Given the description of an element on the screen output the (x, y) to click on. 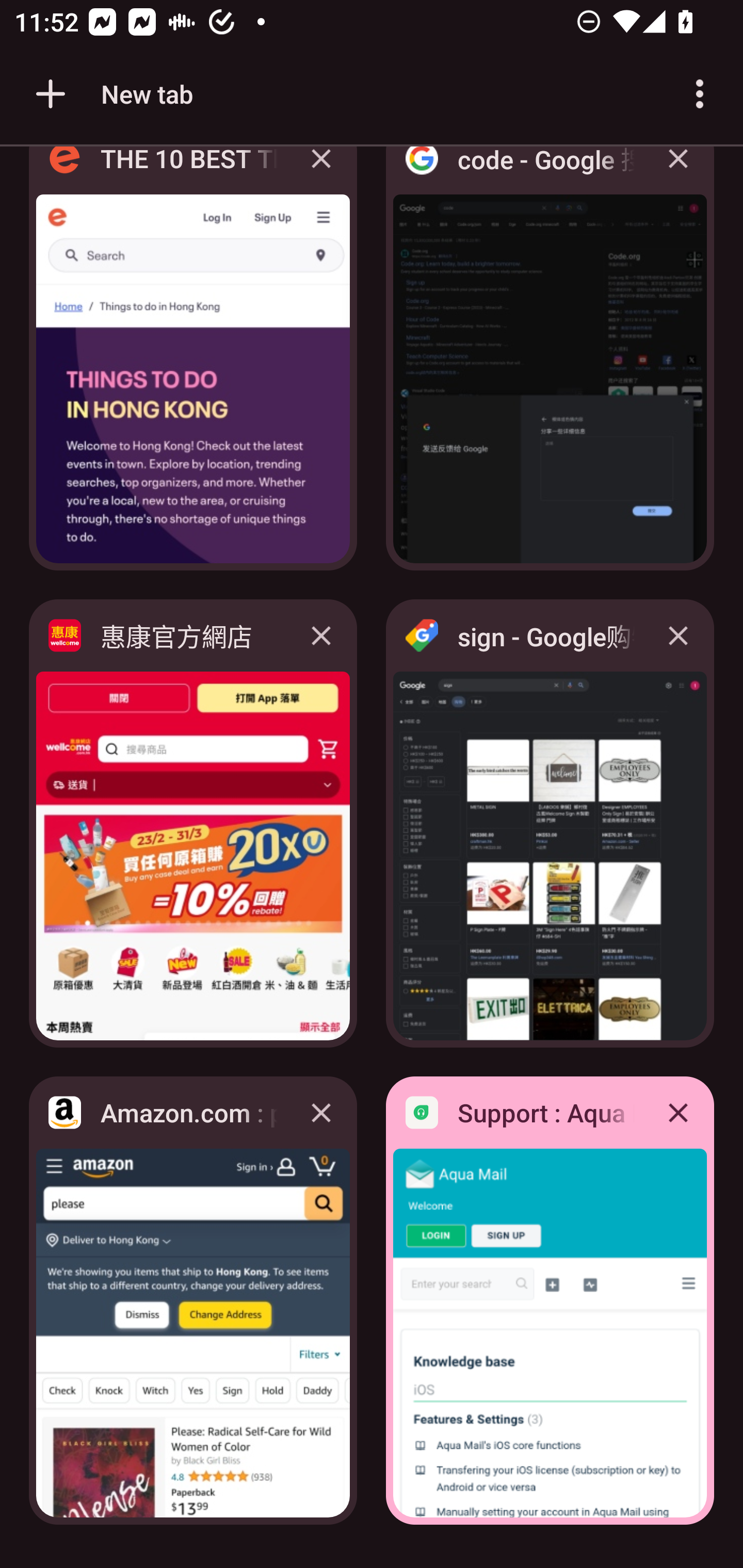
New tab (111, 93)
Customize and control Google Chrome (699, 93)
Close code - Google 搜索 tab (677, 173)
惠康官方網店 惠康官方網店, tab Close 惠康官方網店 tab (192, 822)
Close 惠康官方網店 tab (320, 635)
Close sign - Google购物 tab (677, 635)
Close Amazon.com : please tab (320, 1112)
Close Support : Aqua Mail tab (677, 1112)
